Given the description of an element on the screen output the (x, y) to click on. 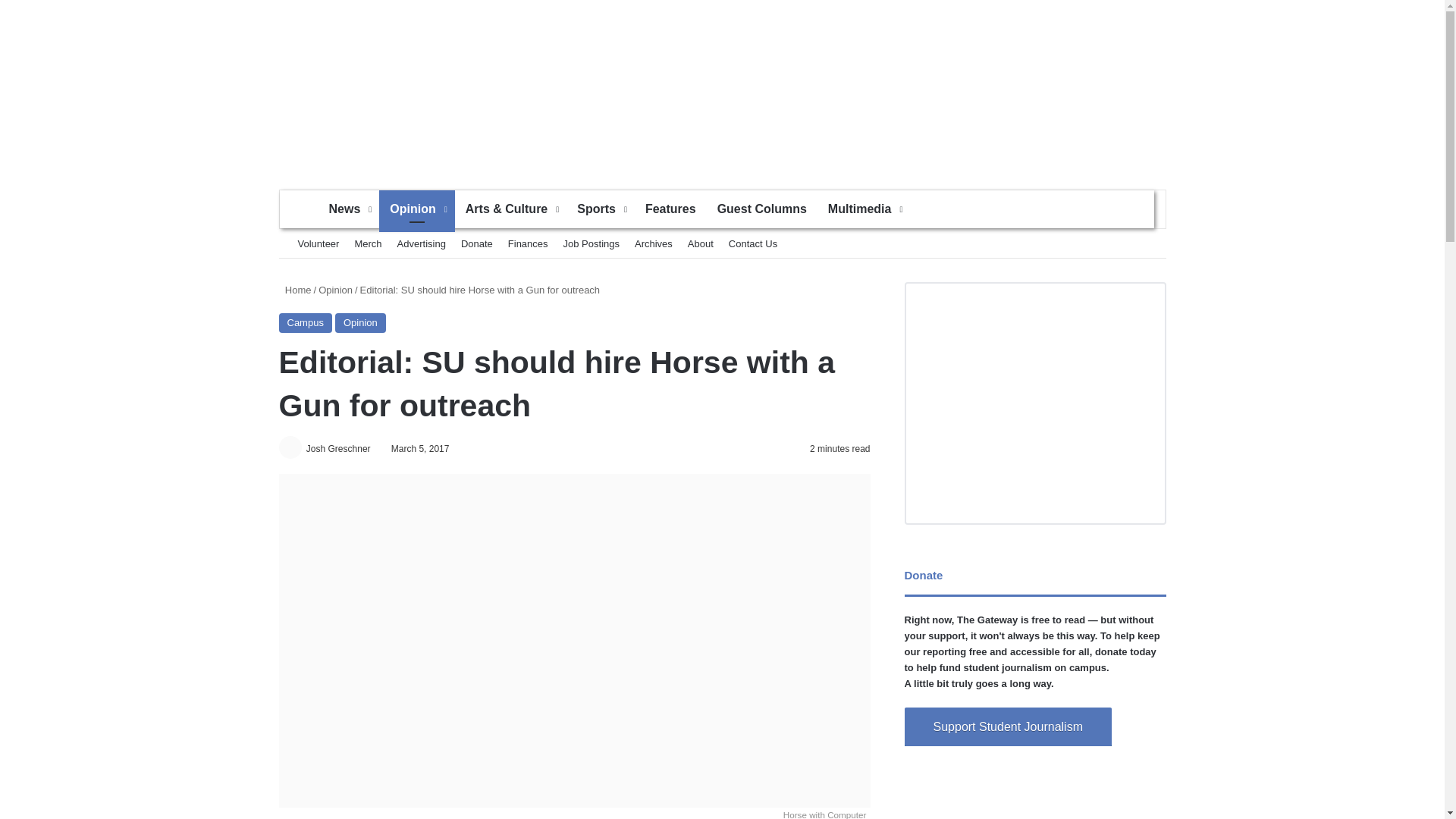
Features (670, 209)
Sports (600, 209)
Guest Columns (761, 209)
The Gateway (722, 85)
News (349, 209)
Opinion (416, 209)
Multimedia (863, 209)
